Given the description of an element on the screen output the (x, y) to click on. 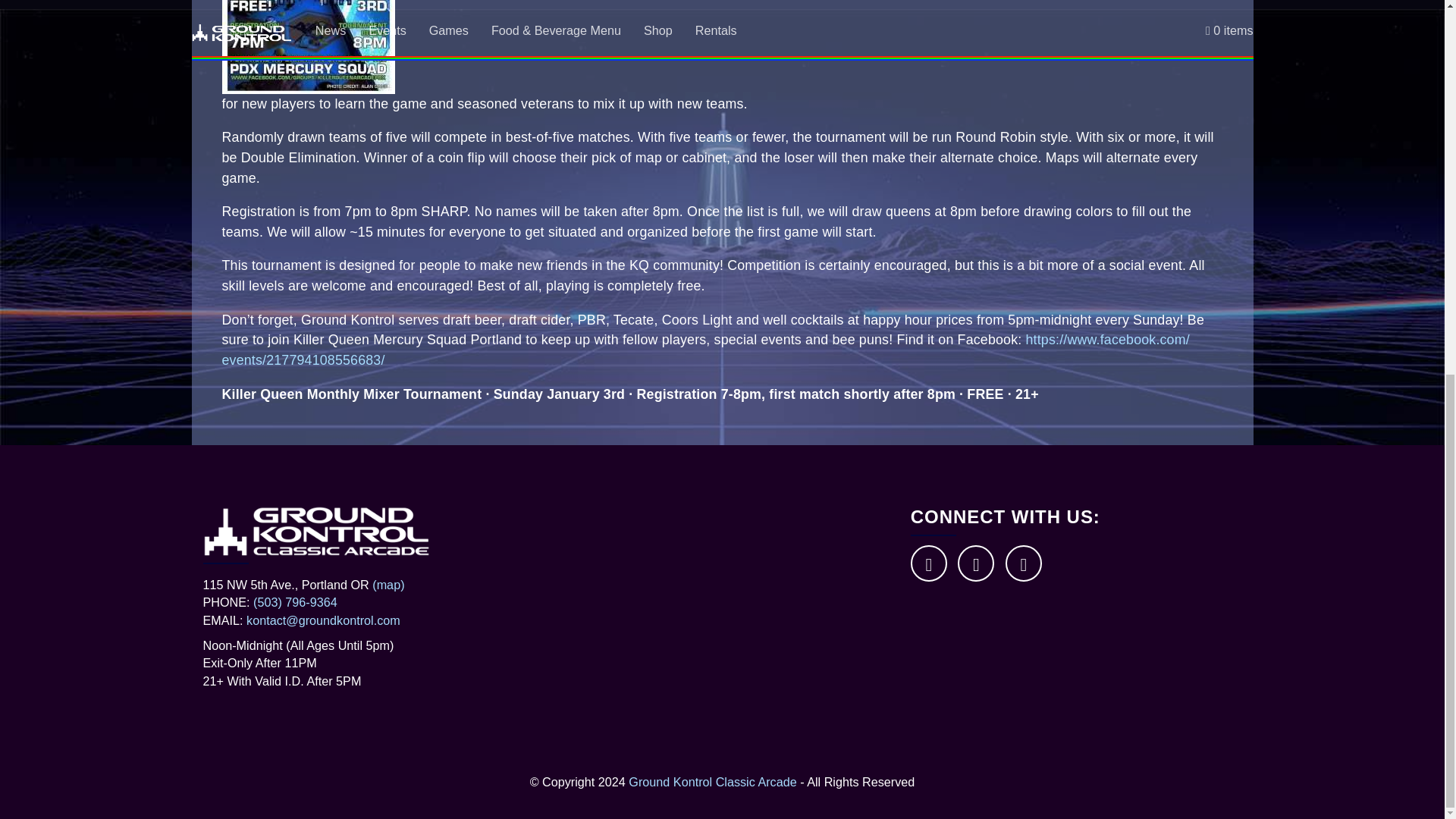
Ground Kontrol Classic Arcade (712, 781)
